Given the description of an element on the screen output the (x, y) to click on. 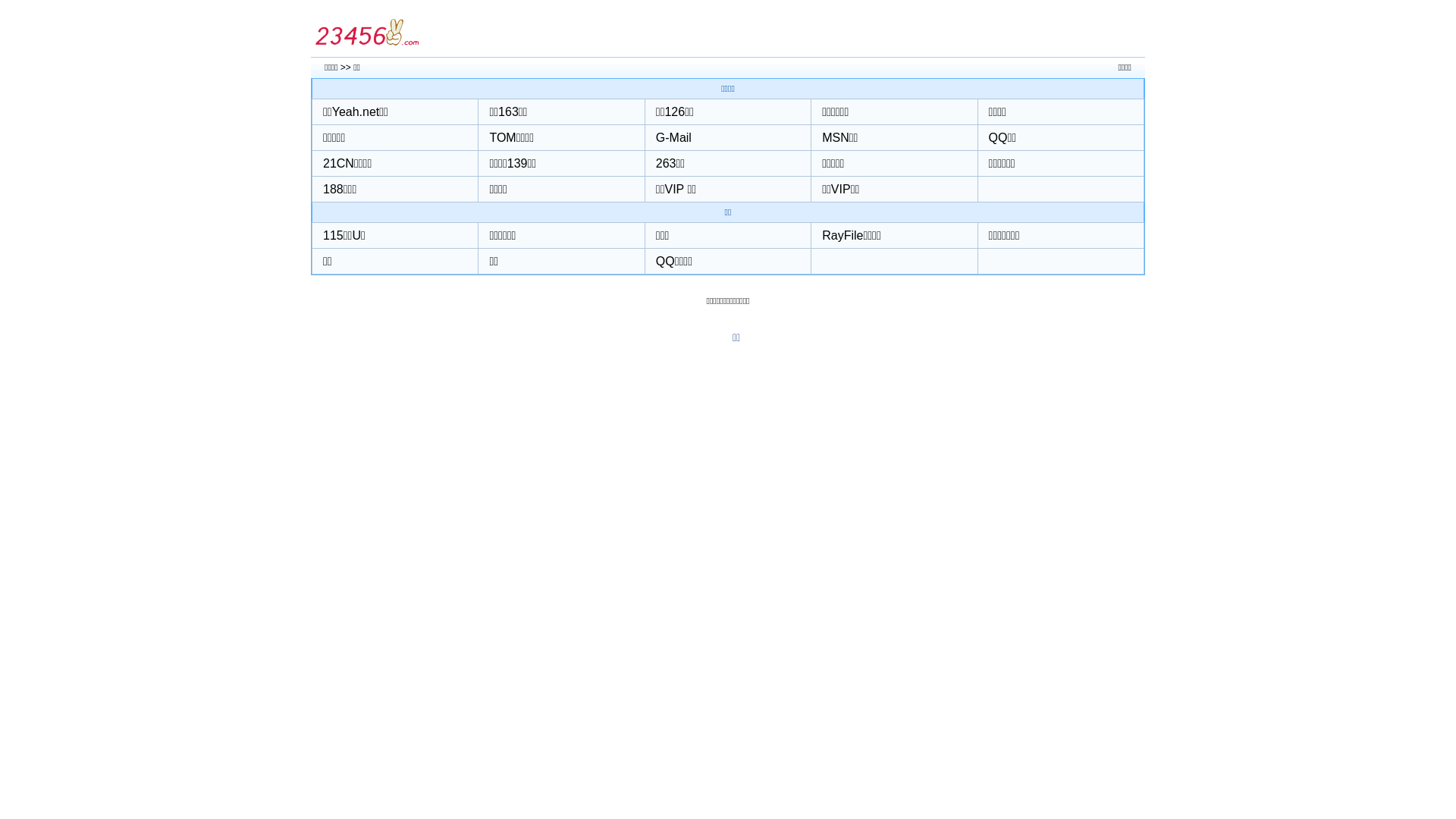
G-Mail Element type: text (673, 137)
